Given the description of an element on the screen output the (x, y) to click on. 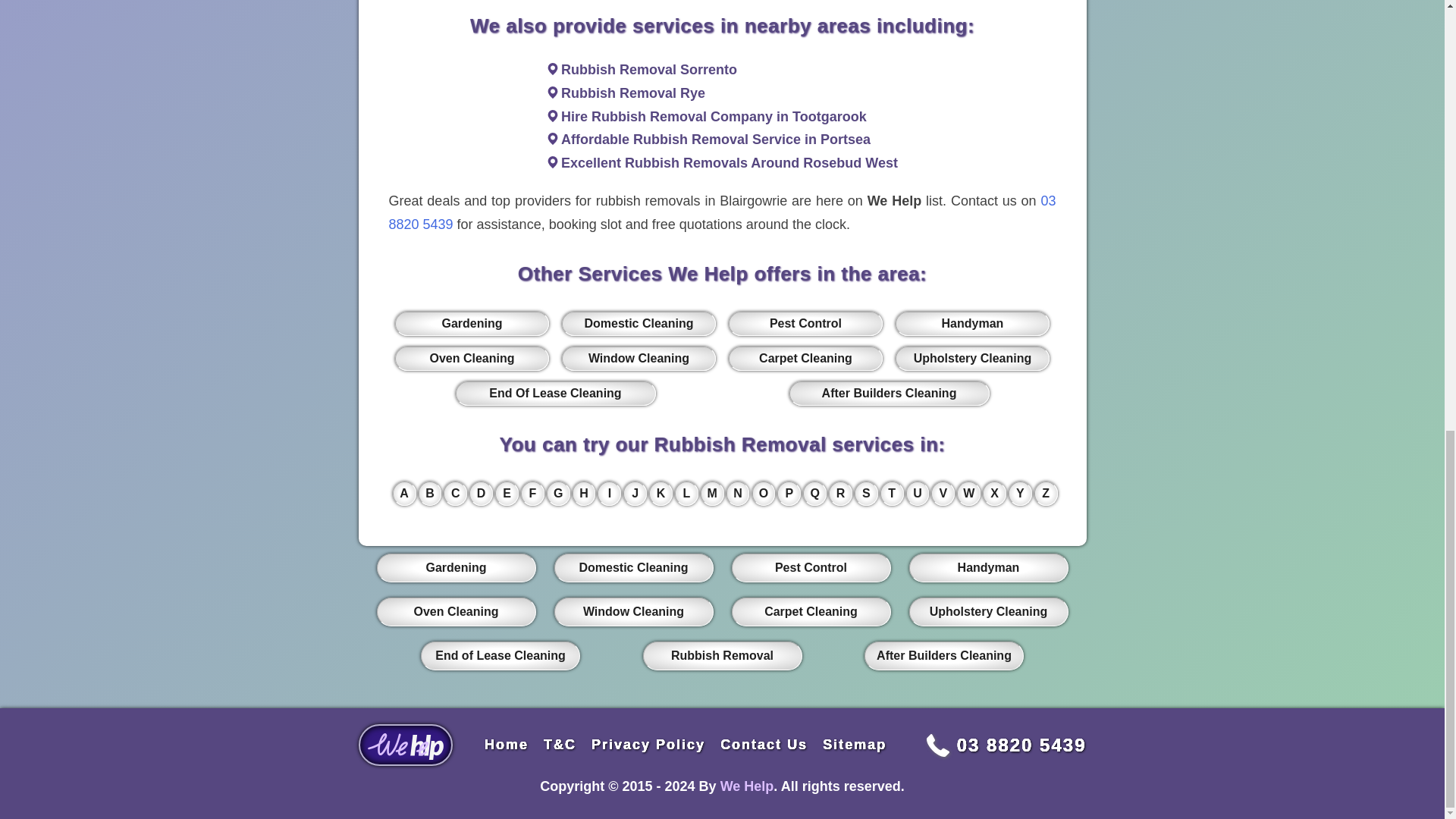
After Builders Cleaning Blairgowrie 3942 (888, 393)
Rubbish Removal Sorrento (648, 69)
Upholstery Cleaning Blairgowrie 3942 (971, 358)
End Of Lease Cleaning (554, 393)
Hire Rubbish Removal Company in Tootgarook (713, 116)
Domestic Cleaning (638, 323)
Pest Control Blairgowrie 3942 (805, 323)
Rubbish Removal Rye (632, 92)
Handyman Blairgowrie 3942 (971, 323)
Affordable Rubbish Removal Service in Portsea (715, 139)
